Given the description of an element on the screen output the (x, y) to click on. 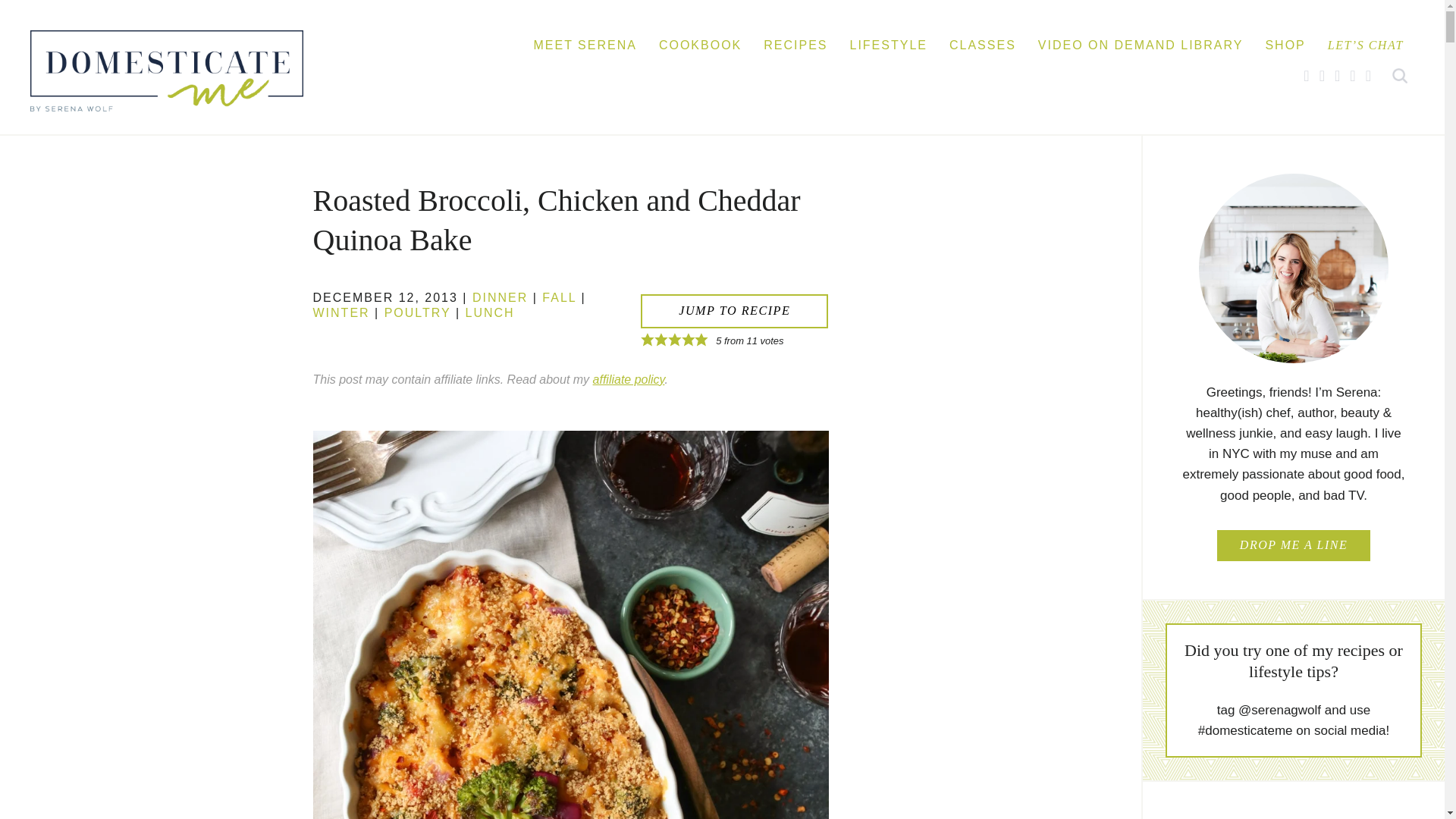
DINNER (499, 297)
LIFESTYLE (887, 43)
POULTRY (417, 312)
MEET SERENA (584, 43)
FALL (558, 297)
JUMP TO RECIPE (734, 311)
affiliate policy (628, 379)
RECIPES (794, 43)
WINTER (341, 312)
JUMP TO RECIPE (734, 311)
LUNCH (490, 312)
CLASSES (982, 43)
domesticate-me (166, 70)
SHOP (1284, 43)
VIDEO ON DEMAND LIBRARY (1140, 43)
